Given the description of an element on the screen output the (x, y) to click on. 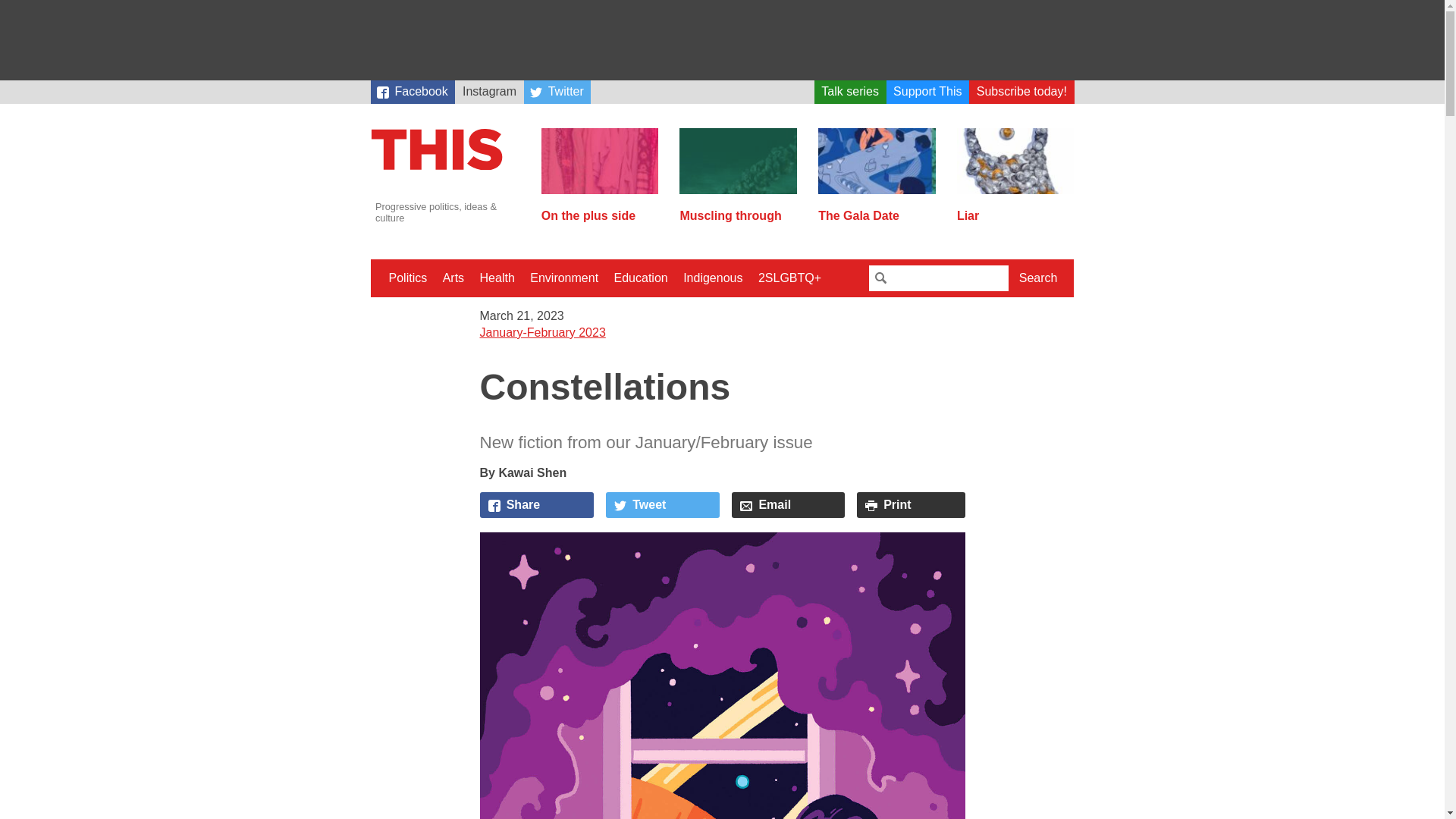
Print (911, 504)
Indigenous (712, 277)
Subscribe today! (1021, 92)
Environment (564, 277)
Liar (1015, 208)
Muscling through (737, 208)
Share (536, 504)
The Gala Date (877, 208)
Instagram (488, 92)
Facebook (411, 92)
